Given the description of an element on the screen output the (x, y) to click on. 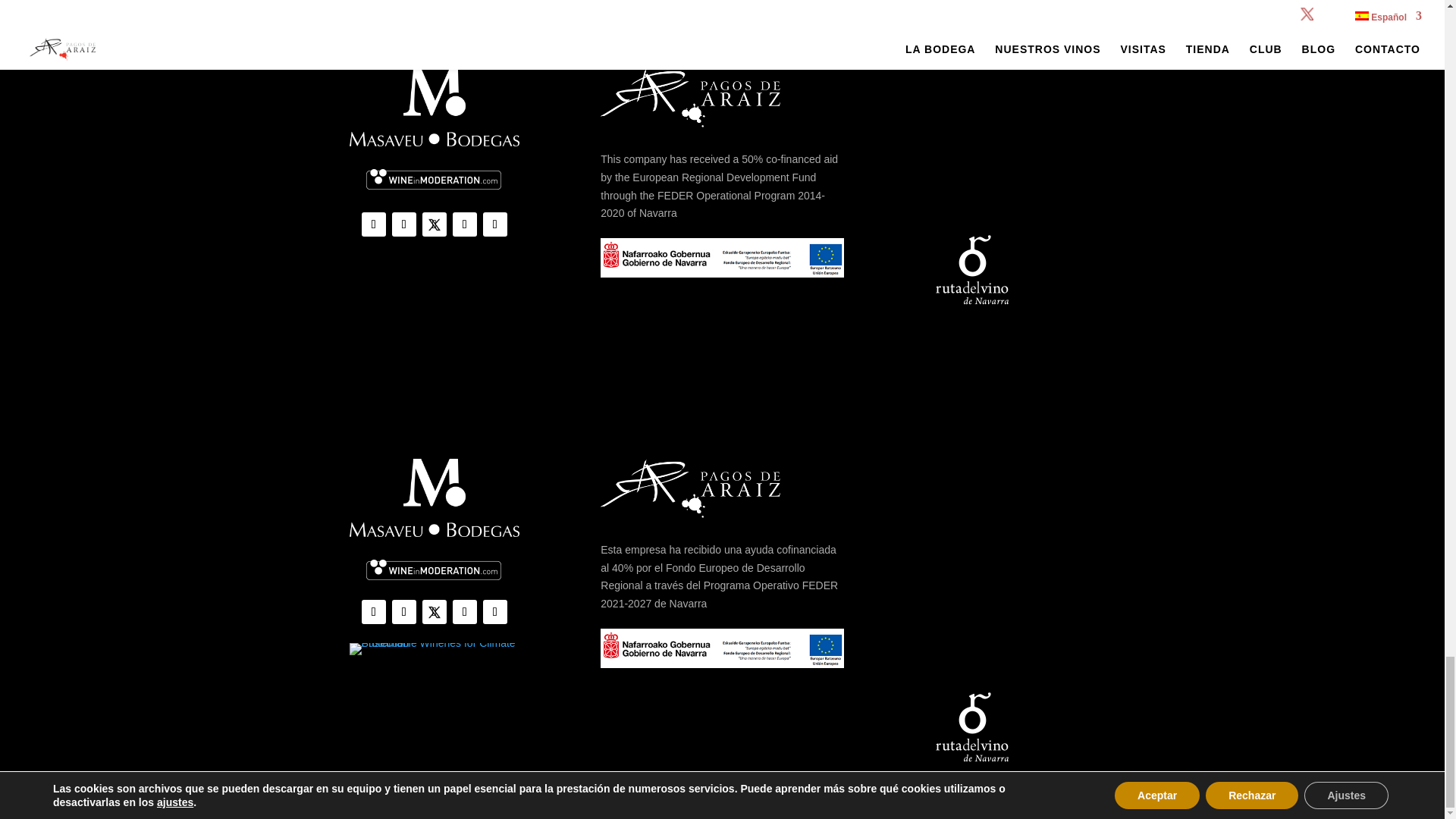
Seguir en X (434, 224)
Seguir en Facebook (403, 224)
Seguir en LinkedIn (494, 224)
Seguir en Youtube (464, 224)
Seguir en Instagram (373, 224)
